Given the description of an element on the screen output the (x, y) to click on. 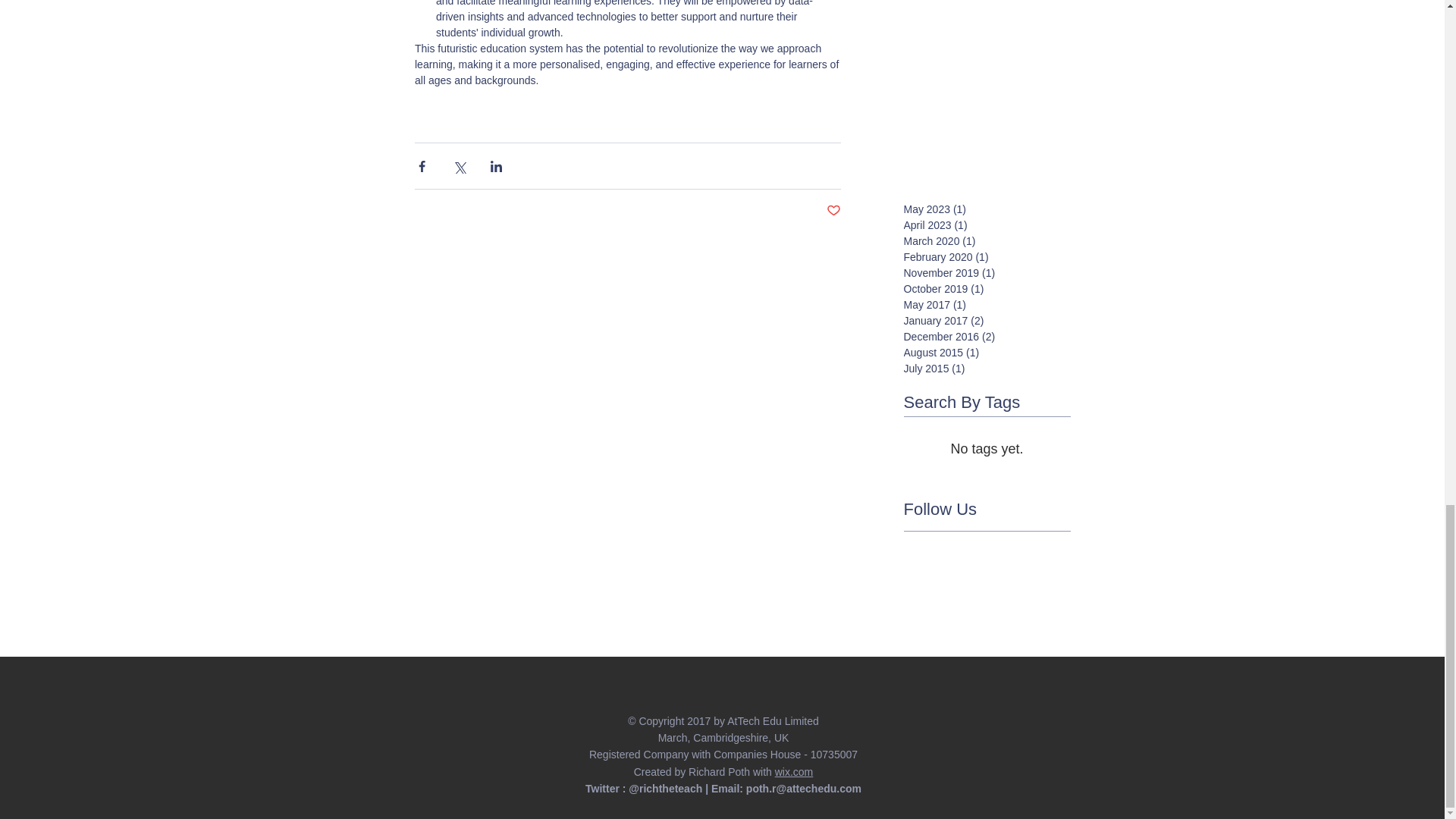
Post not marked as liked (834, 211)
